Given the description of an element on the screen output the (x, y) to click on. 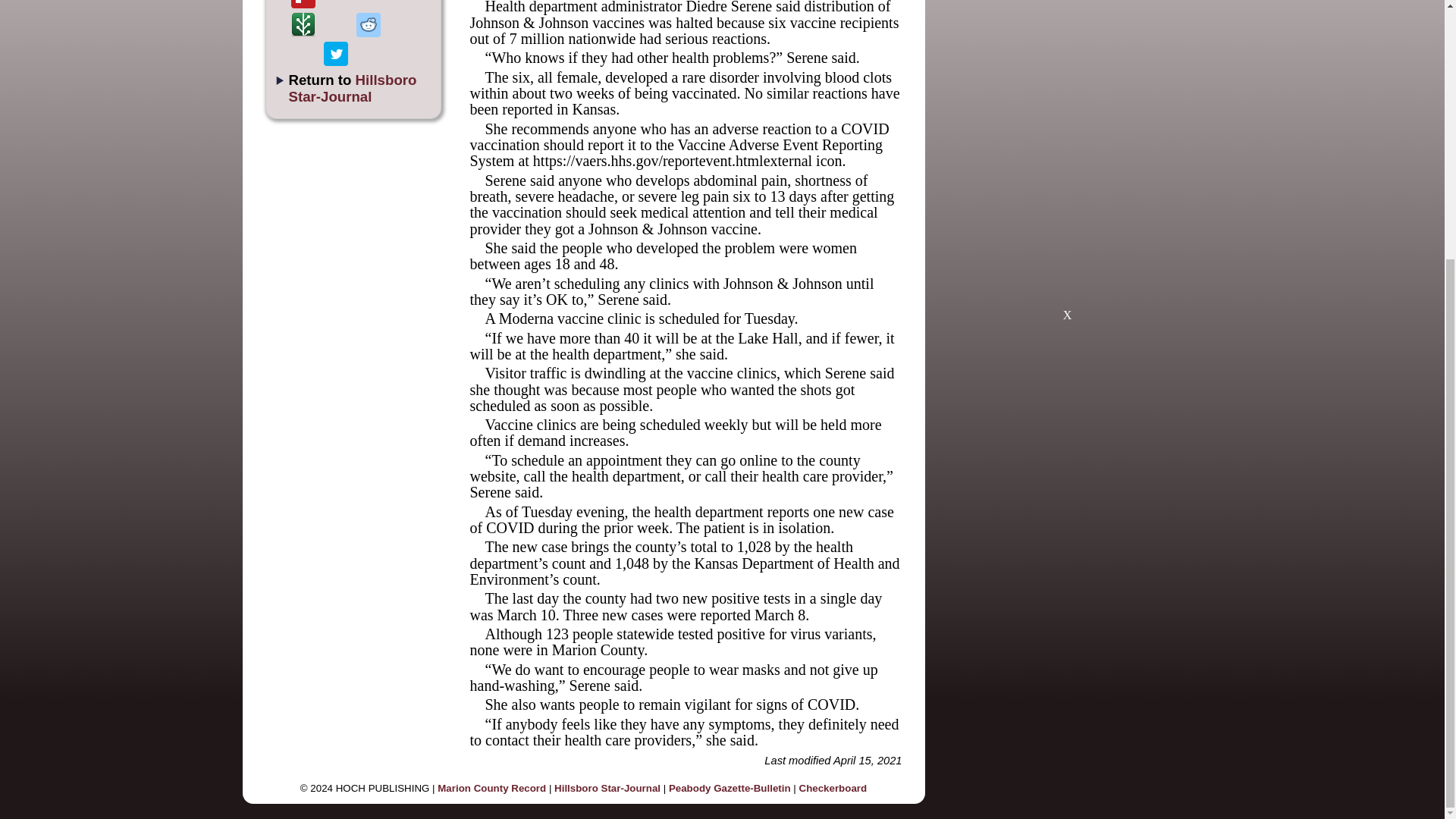
Advertisement (1067, 220)
Hillsboro Star-Journal (352, 88)
Advertisement (1123, 53)
Checkerboard (833, 787)
Peabody Gazette-Bulletin (729, 787)
Marion County Record (492, 787)
Hillsboro Star-Journal (607, 787)
